Given the description of an element on the screen output the (x, y) to click on. 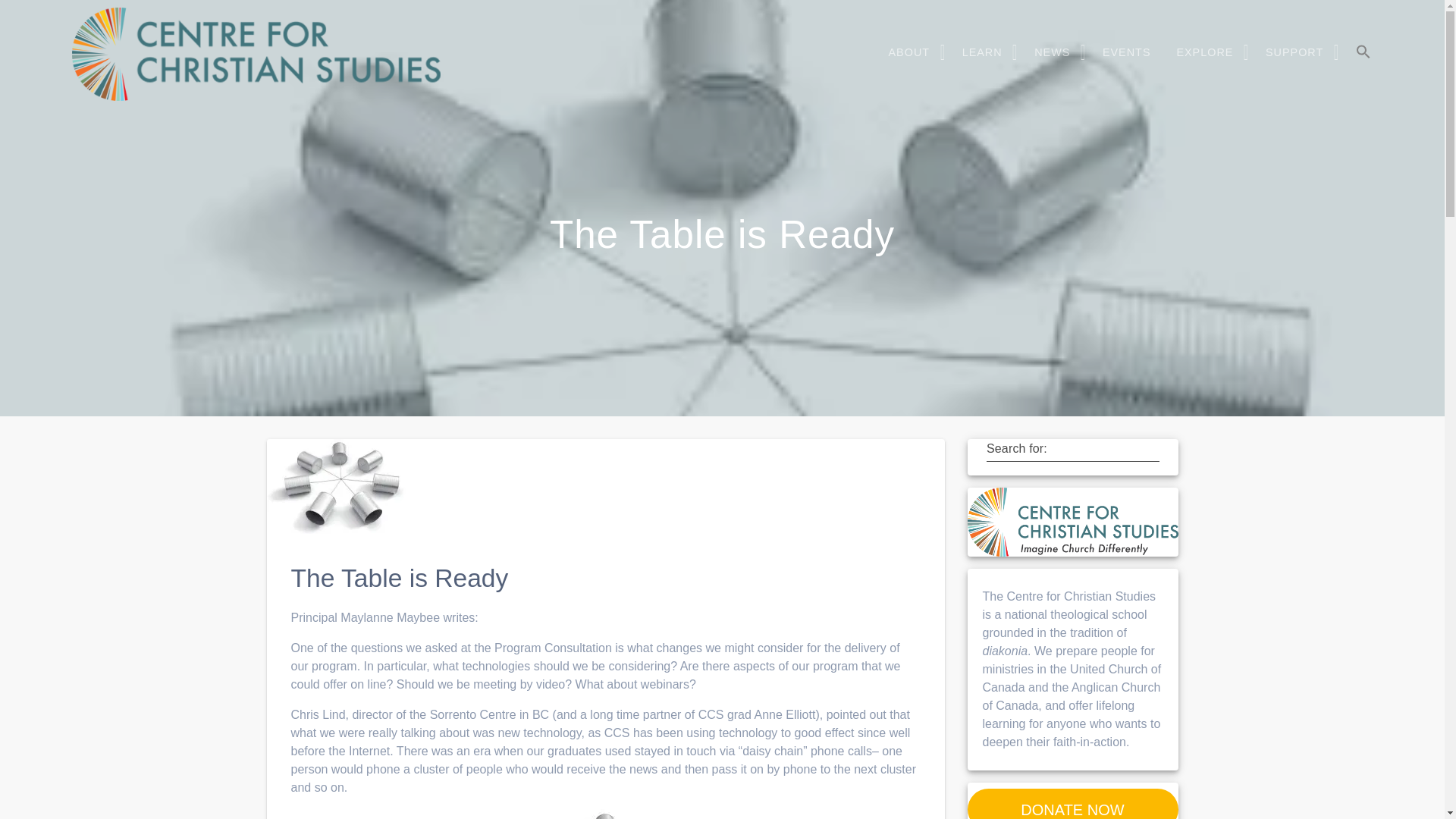
ABOUT (912, 52)
EVENTS (1126, 52)
NEWS (1055, 52)
LEARN (985, 52)
EXPLORE (1207, 52)
SUPPORT (1297, 52)
